Given the description of an element on the screen output the (x, y) to click on. 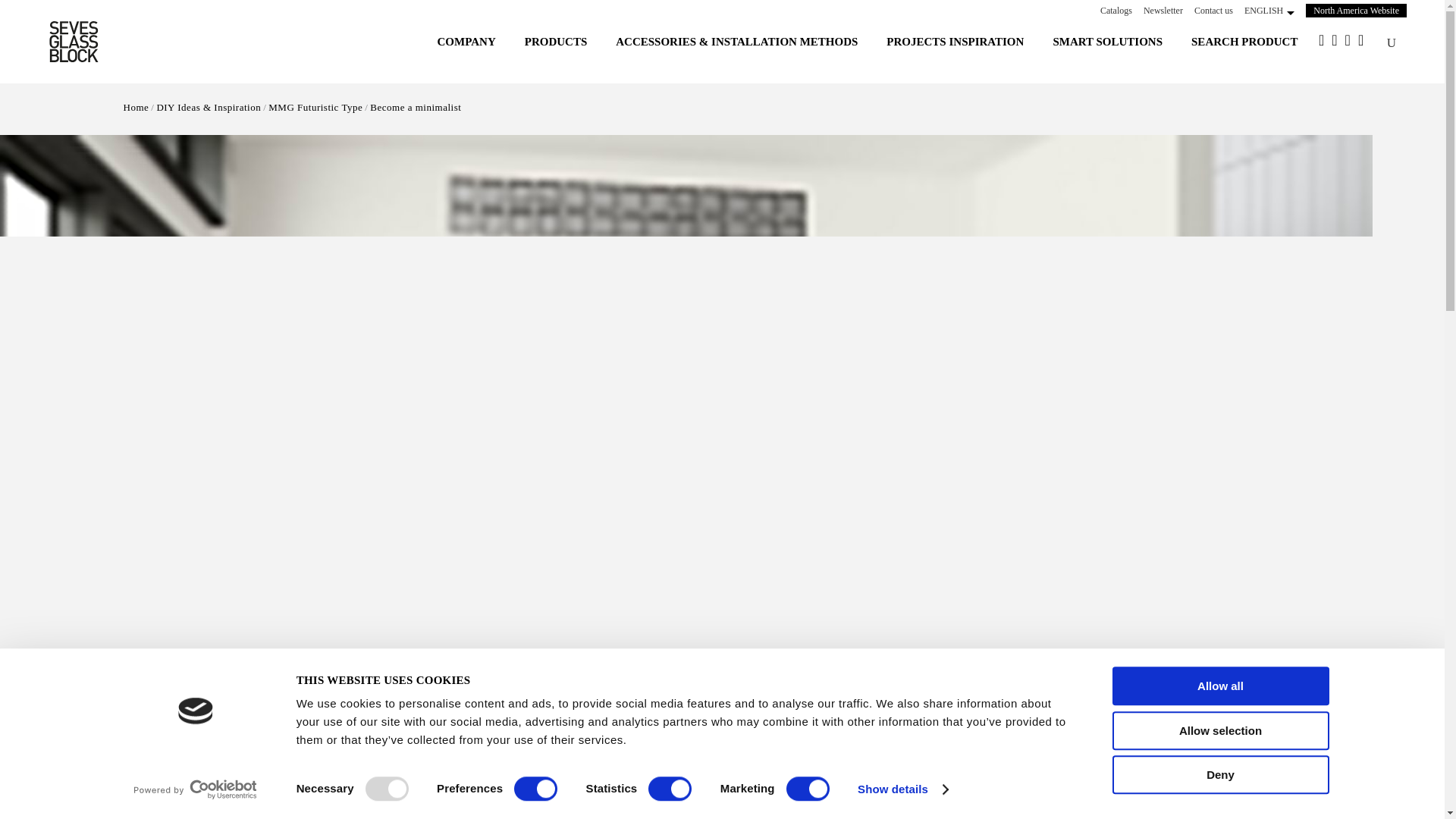
Show details (902, 789)
Deny (1219, 774)
Allow selection (1219, 730)
Allow all (1219, 685)
